Given the description of an element on the screen output the (x, y) to click on. 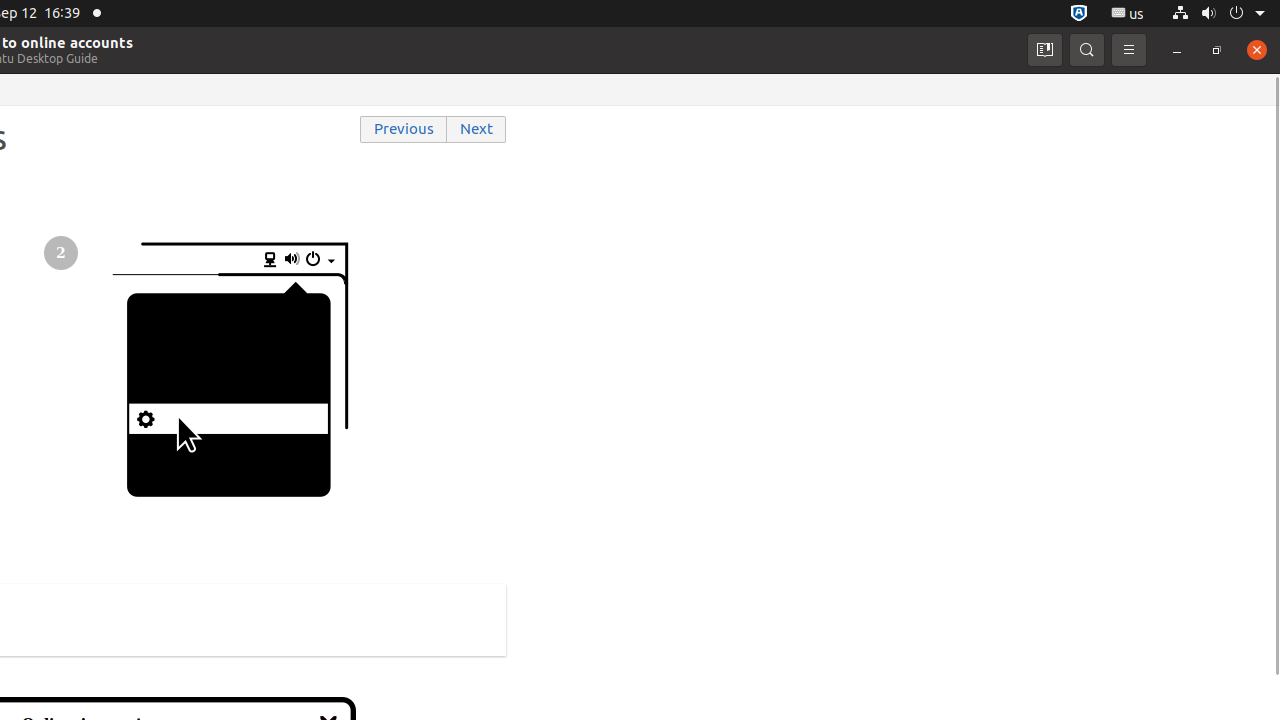
Previous Element type: link (404, 129)
Close Element type: push-button (1257, 50)
Next Element type: link (477, 129)
Minimize Element type: push-button (1177, 50)
Restore Element type: push-button (1217, 50)
